Given the description of an element on the screen output the (x, y) to click on. 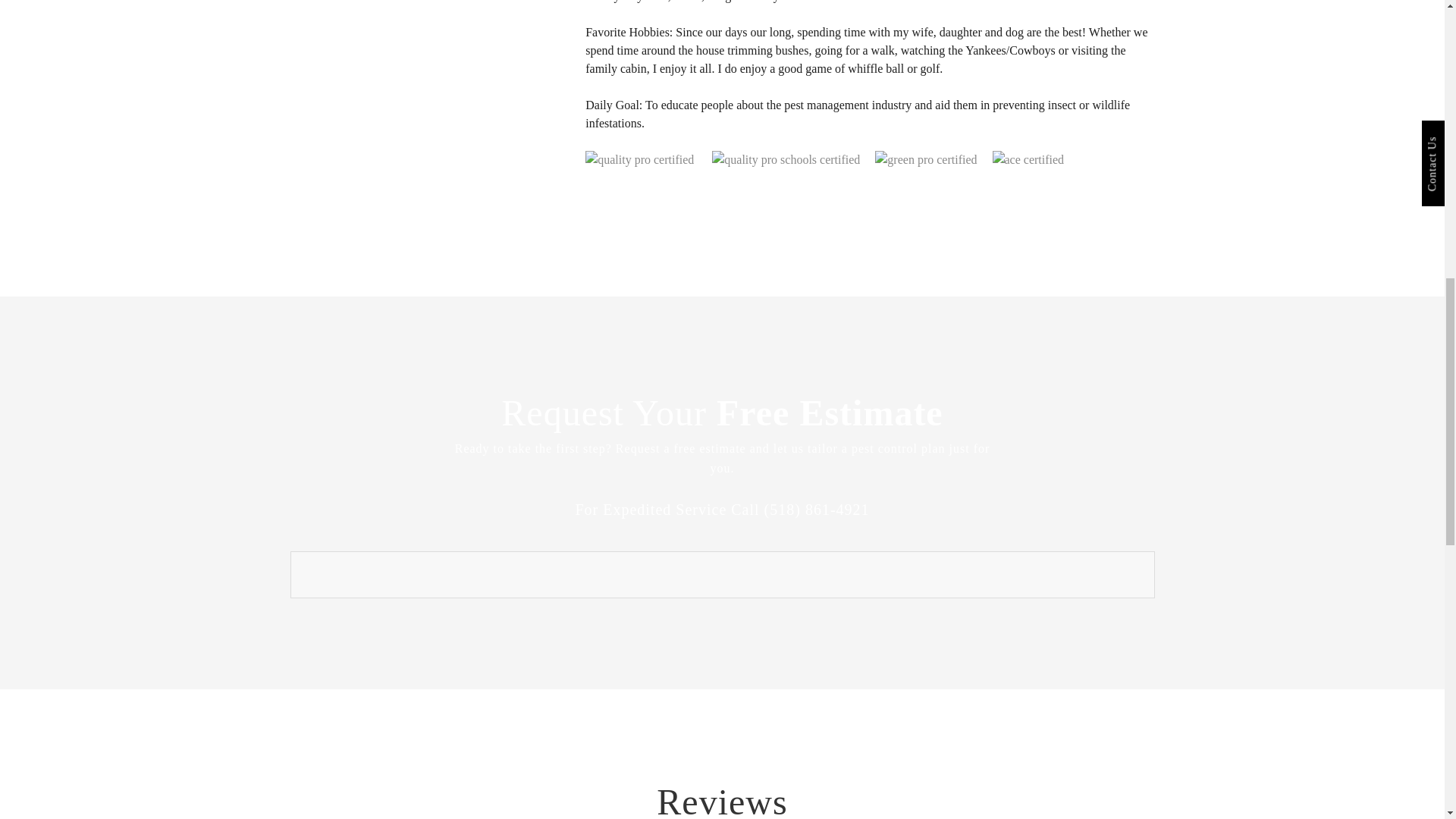
Green Pro Certified (925, 159)
ACE Certified (1027, 159)
Quality Pro Certified (639, 159)
Quality Pro Schools Certified (785, 159)
